Given the description of an element on the screen output the (x, y) to click on. 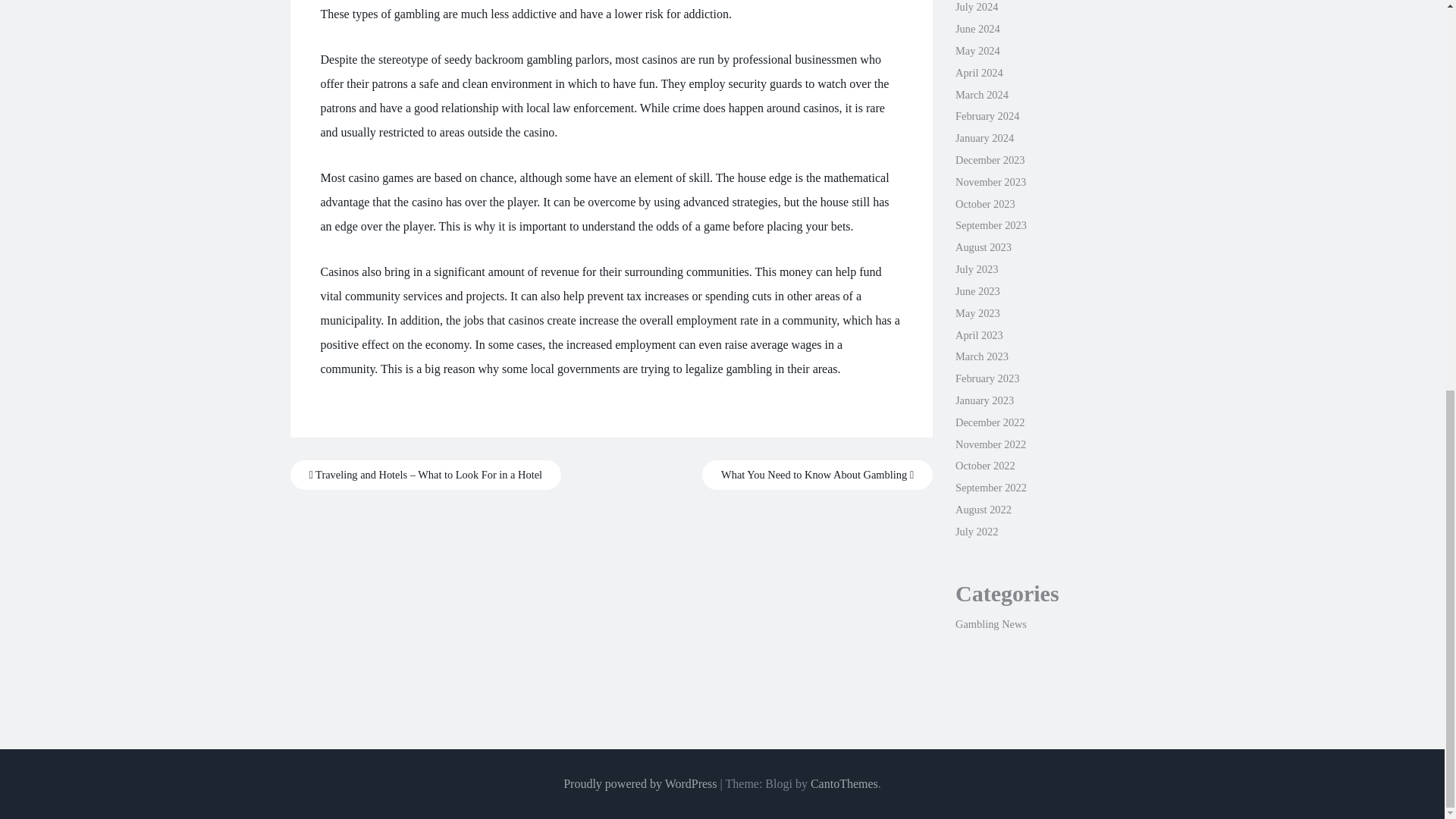
April 2024 (979, 72)
March 2023 (982, 356)
January 2024 (984, 137)
July 2024 (976, 6)
March 2024 (982, 94)
June 2023 (977, 291)
October 2022 (984, 465)
July 2023 (976, 268)
December 2023 (990, 159)
May 2024 (977, 50)
